Given the description of an element on the screen output the (x, y) to click on. 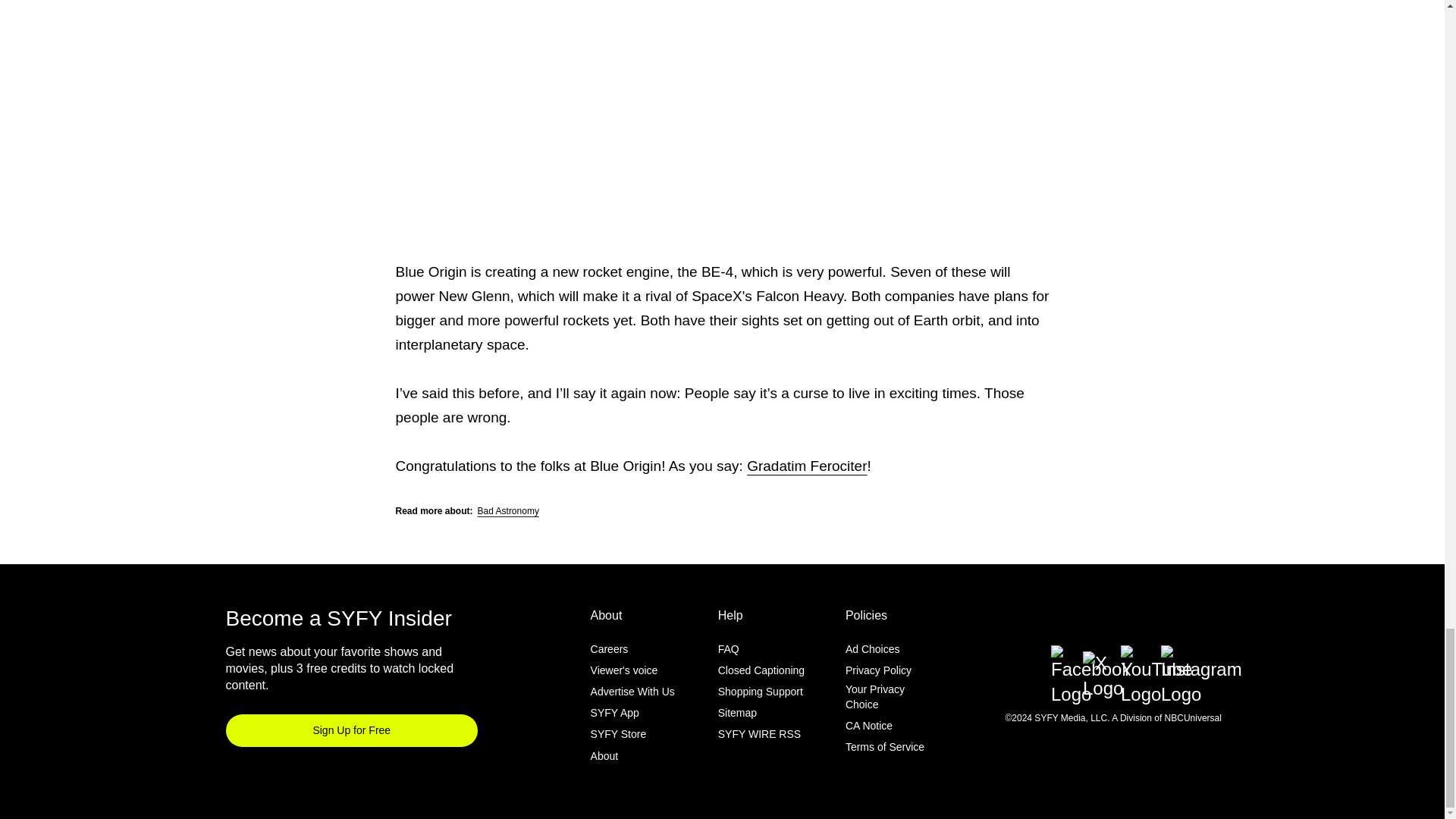
Bad Astronomy (507, 511)
Gradatim Ferociter (806, 465)
Advertise With Us (633, 692)
